Given the description of an element on the screen output the (x, y) to click on. 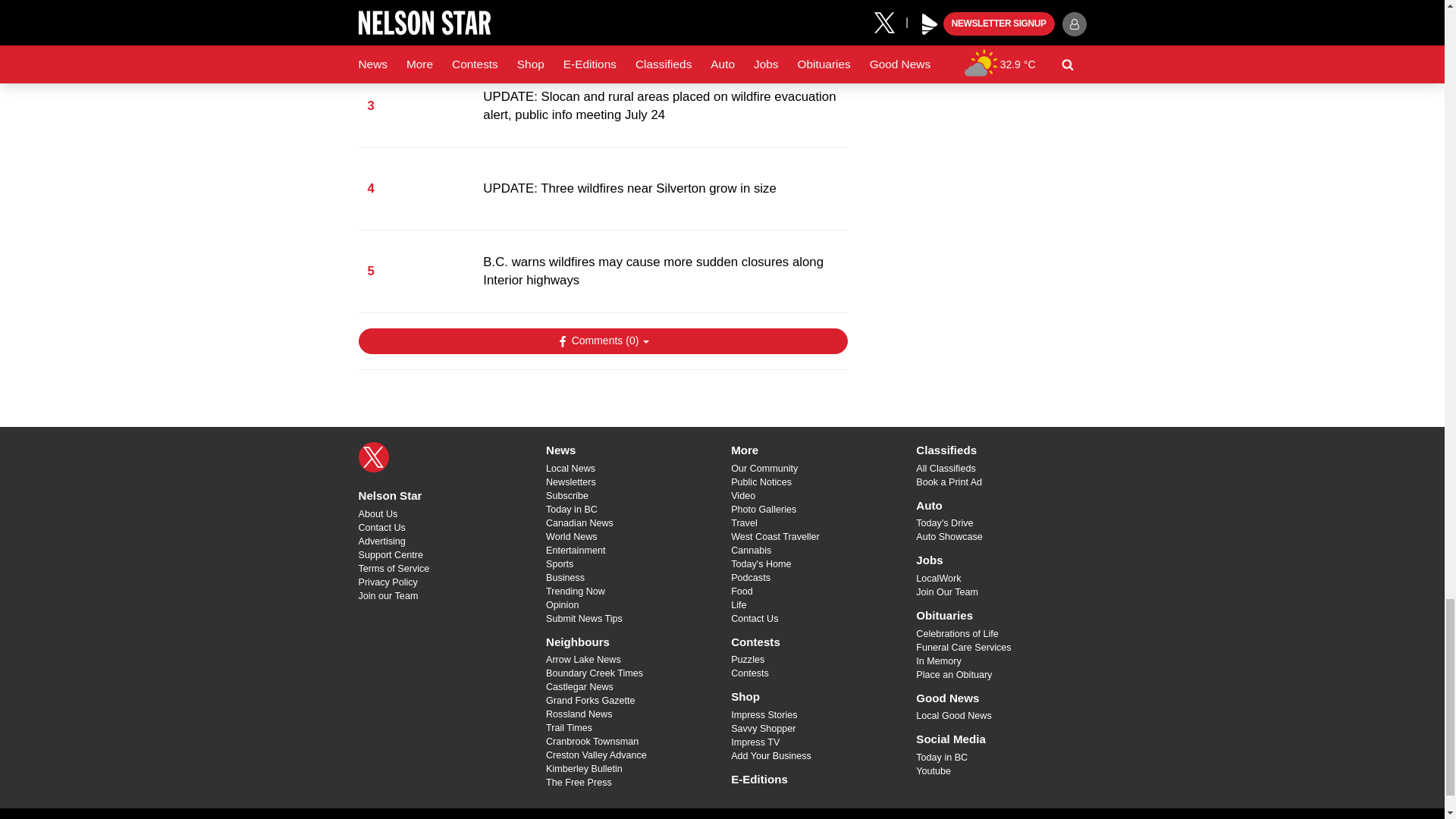
X (373, 457)
Show Comments (602, 340)
